Given the description of an element on the screen output the (x, y) to click on. 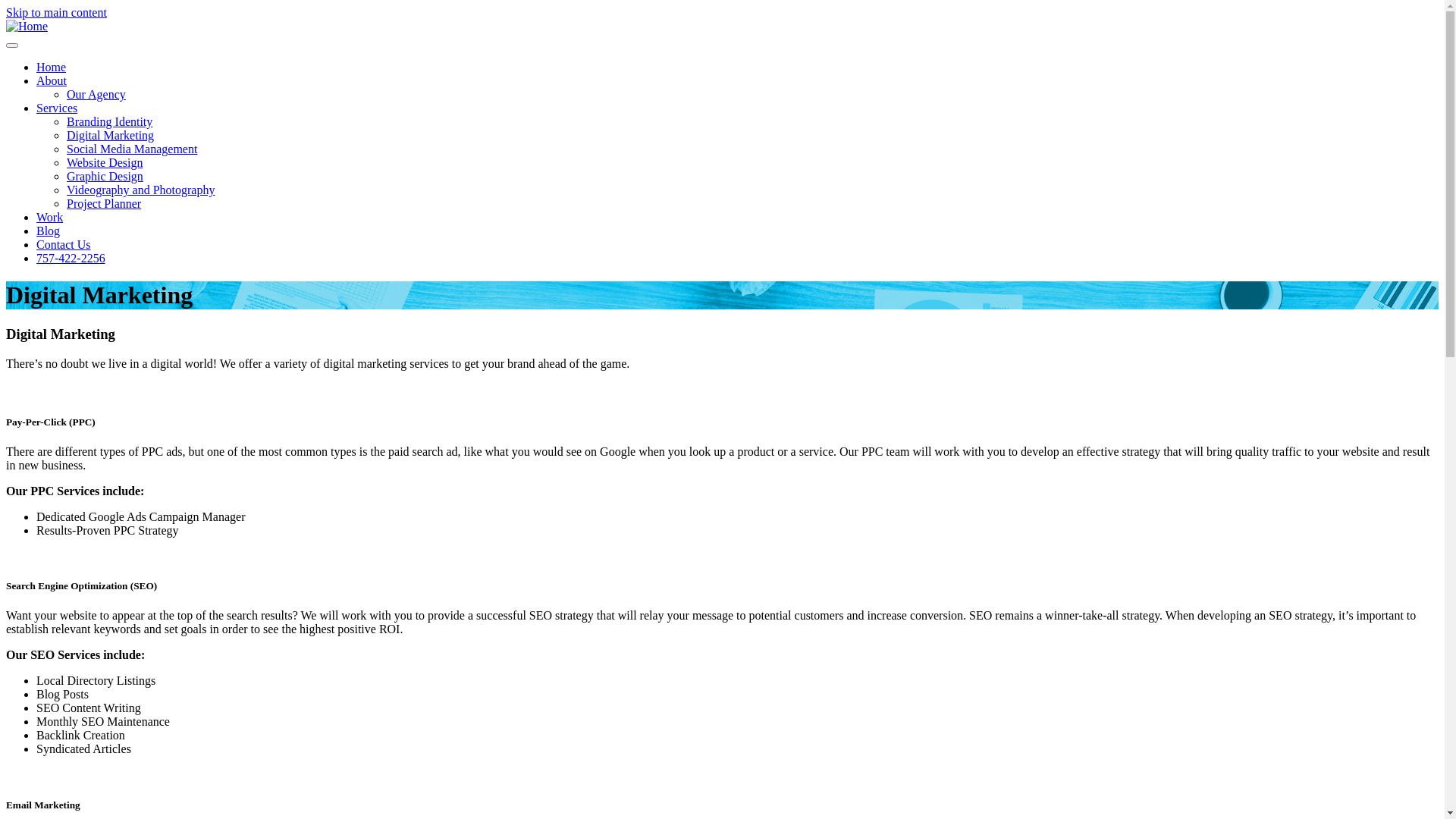
Website Design Element type: text (104, 162)
About Element type: text (51, 80)
757-422-2256 Element type: text (70, 257)
Work Element type: text (49, 216)
Blog Element type: text (47, 230)
Our Agency Element type: text (95, 93)
Graphic Design Element type: text (104, 175)
Videography and Photography Element type: text (140, 189)
Project Planner Element type: text (103, 203)
Branding Identity Element type: text (109, 121)
Social Media Management Element type: text (131, 148)
Services Element type: text (56, 107)
Skip to main content Element type: text (56, 12)
Contact Us Element type: text (63, 244)
Home Element type: hover (26, 25)
Home Element type: text (50, 66)
Digital Marketing Element type: text (109, 134)
